Given the description of an element on the screen output the (x, y) to click on. 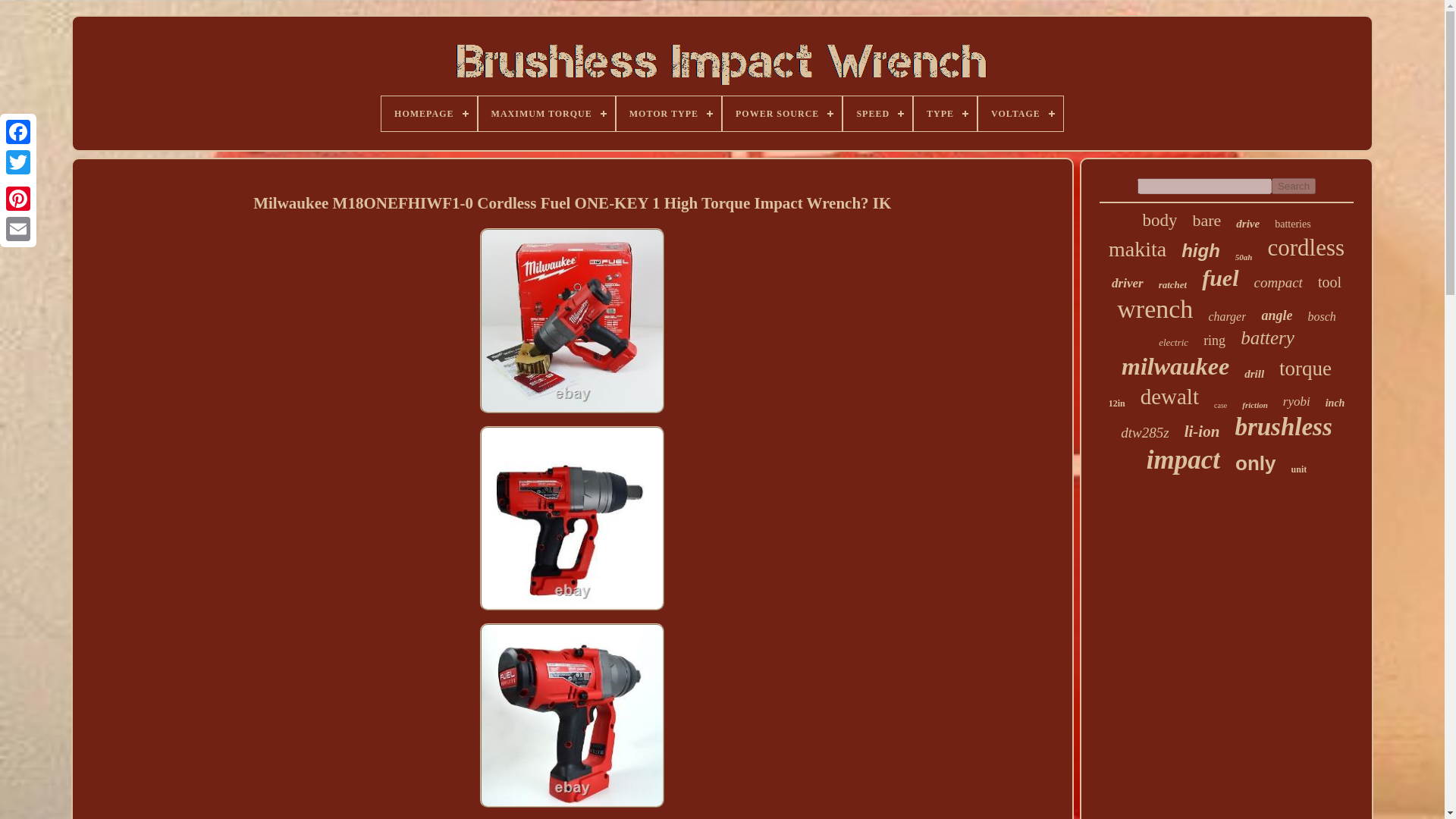
MAXIMUM TORQUE (546, 113)
MOTOR TYPE (667, 113)
HOMEPAGE (428, 113)
POWER SOURCE (781, 113)
Search (1293, 186)
